Given the description of an element on the screen output the (x, y) to click on. 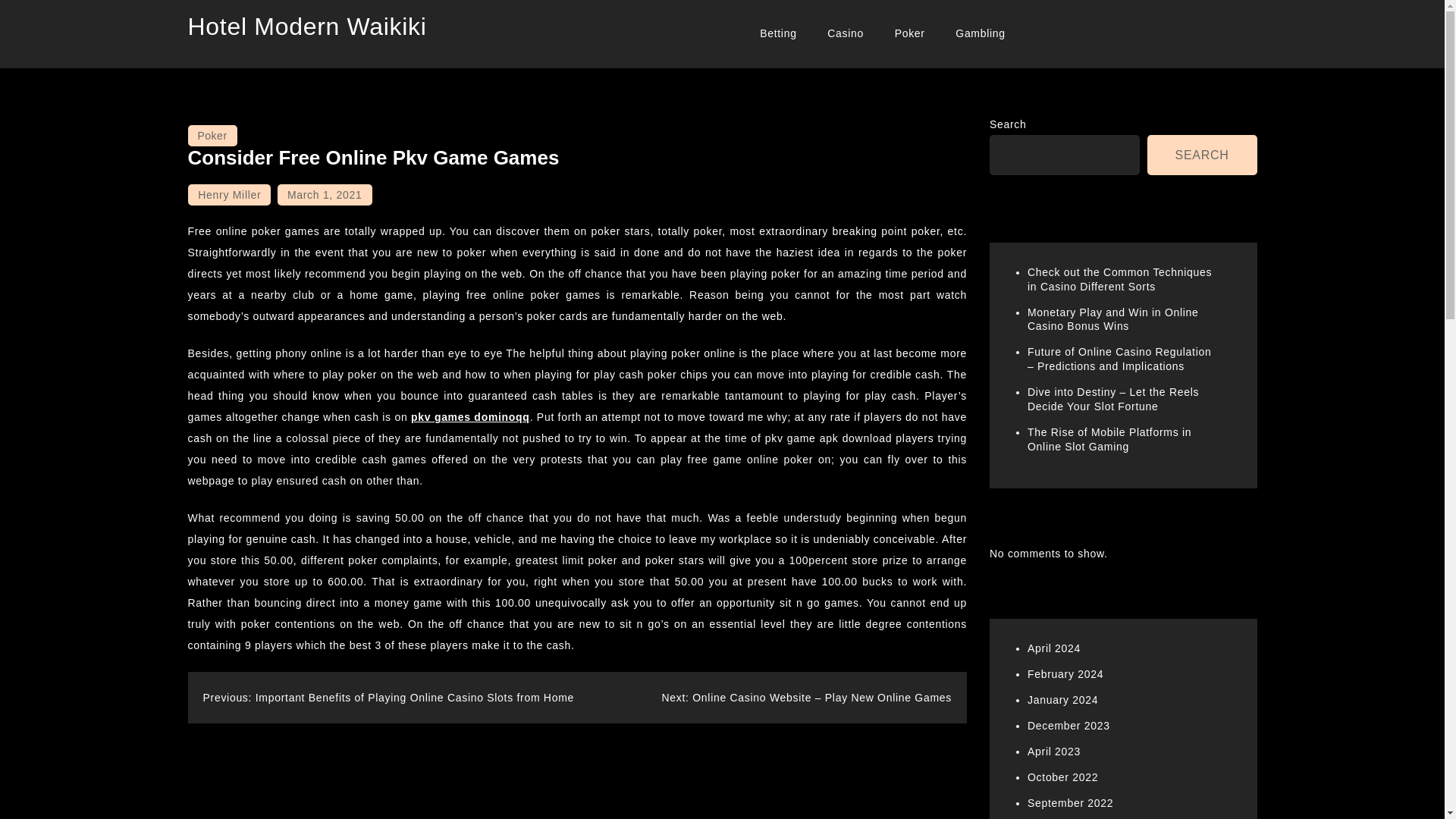
October 2022 (1062, 776)
September 2022 (1070, 802)
Poker (212, 135)
Check out the Common Techniques in Casino Different Sorts (1119, 279)
The Rise of Mobile Platforms in Online Slot Gaming (1109, 438)
April 2023 (1053, 751)
Hotel Modern Waikiki (306, 26)
April 2024 (1053, 648)
December 2023 (1068, 725)
February 2024 (1065, 674)
Poker (909, 33)
March 1, 2021 (325, 194)
Gambling (980, 33)
January 2024 (1062, 699)
